Given the description of an element on the screen output the (x, y) to click on. 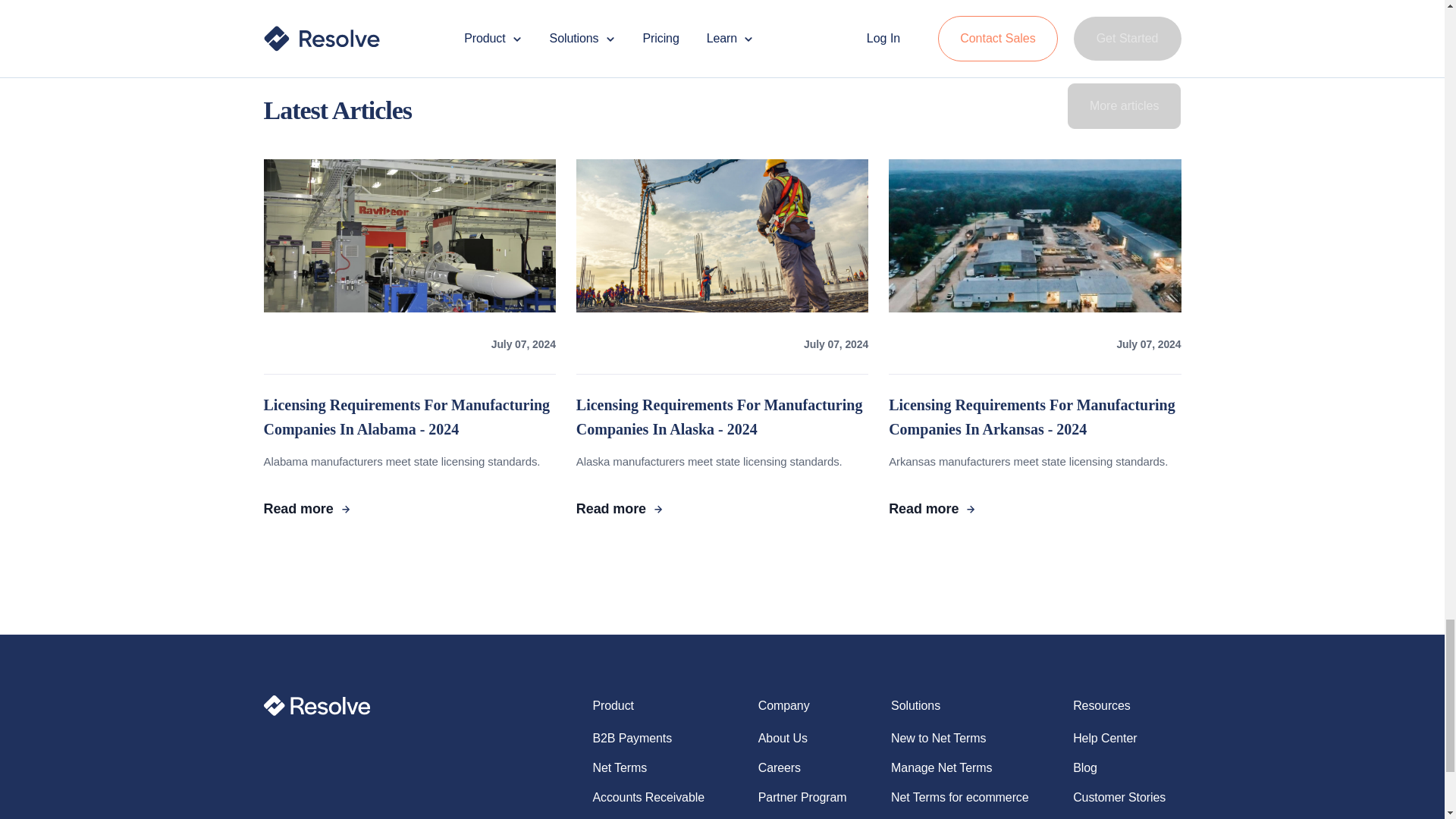
Logo new (317, 705)
